Given the description of an element on the screen output the (x, y) to click on. 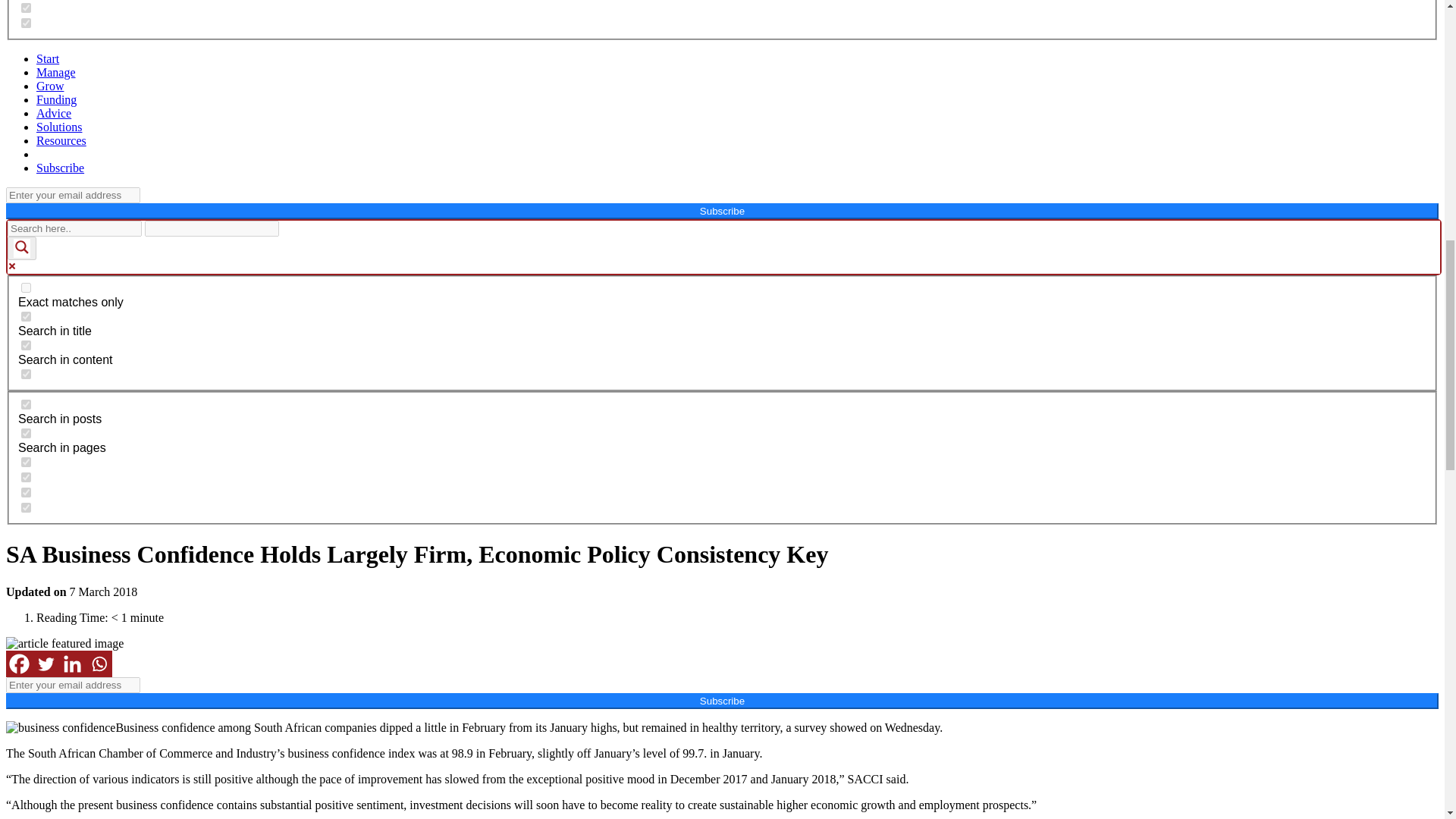
Subscribe (60, 167)
Grow (50, 85)
Solutions (58, 126)
content (25, 345)
Facebook (18, 663)
Whatsapp (98, 663)
Start search (288, 222)
exact (25, 287)
Twitter (45, 663)
Resources (60, 140)
title (25, 316)
Funding (56, 99)
Start (47, 58)
Linkedin (72, 663)
excerpt (25, 374)
